Given the description of an element on the screen output the (x, y) to click on. 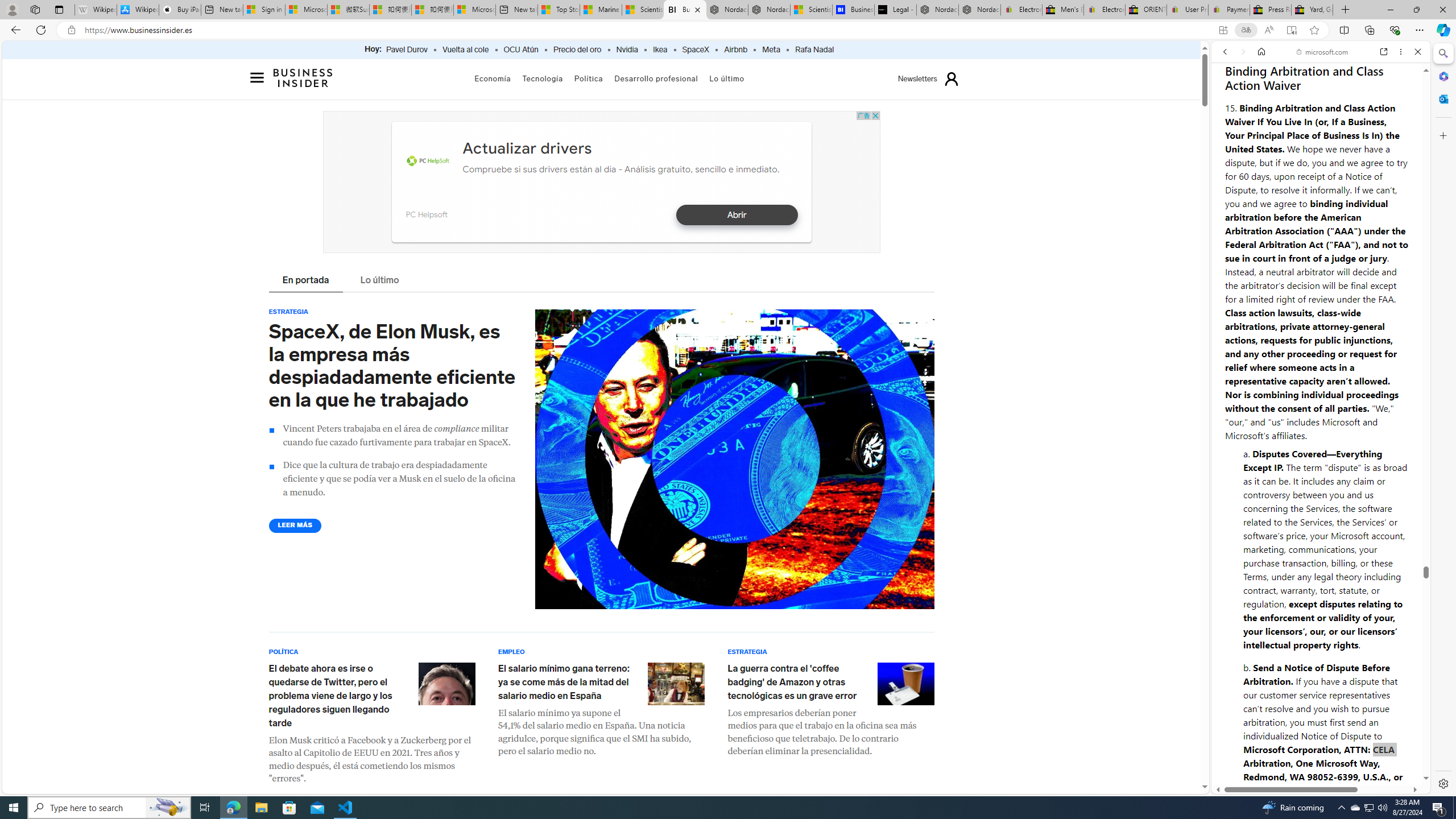
Ikea (659, 49)
Meta (770, 49)
Privacy (1252, 757)
This site scope (1259, 102)
